Given the description of an element on the screen output the (x, y) to click on. 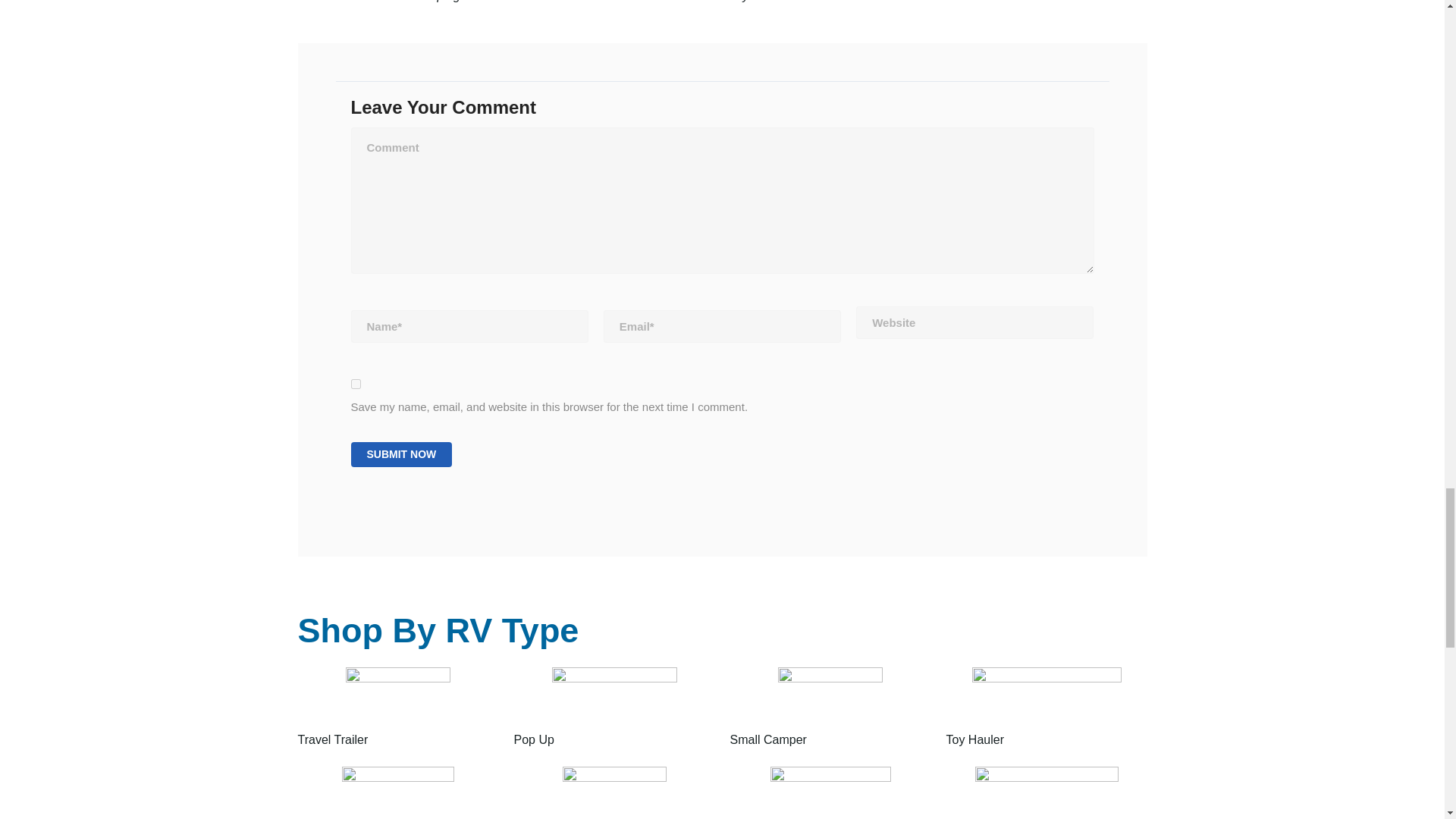
Submit Now (400, 454)
yes (354, 384)
